Given the description of an element on the screen output the (x, y) to click on. 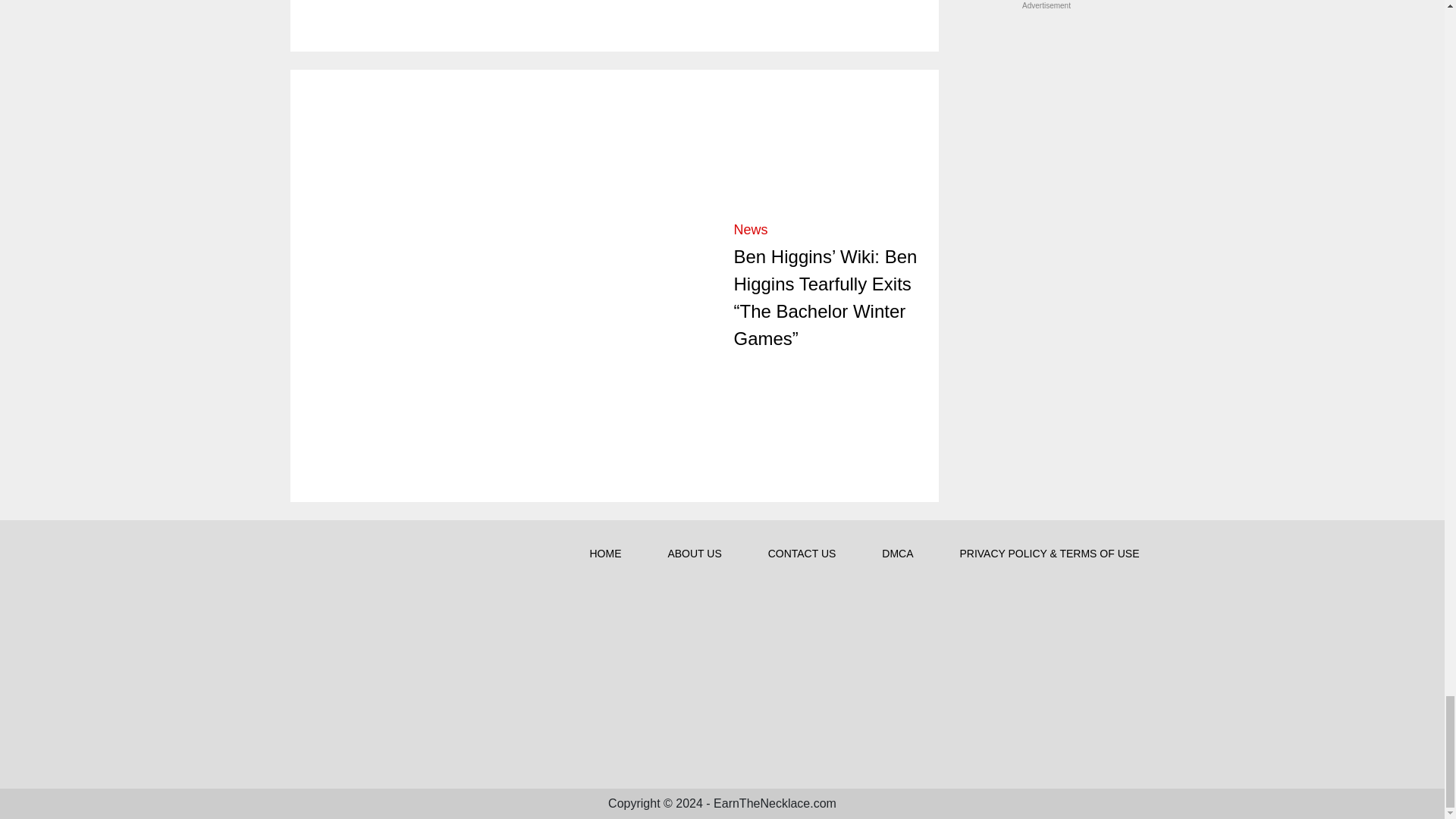
Category Name (750, 229)
